Given the description of an element on the screen output the (x, y) to click on. 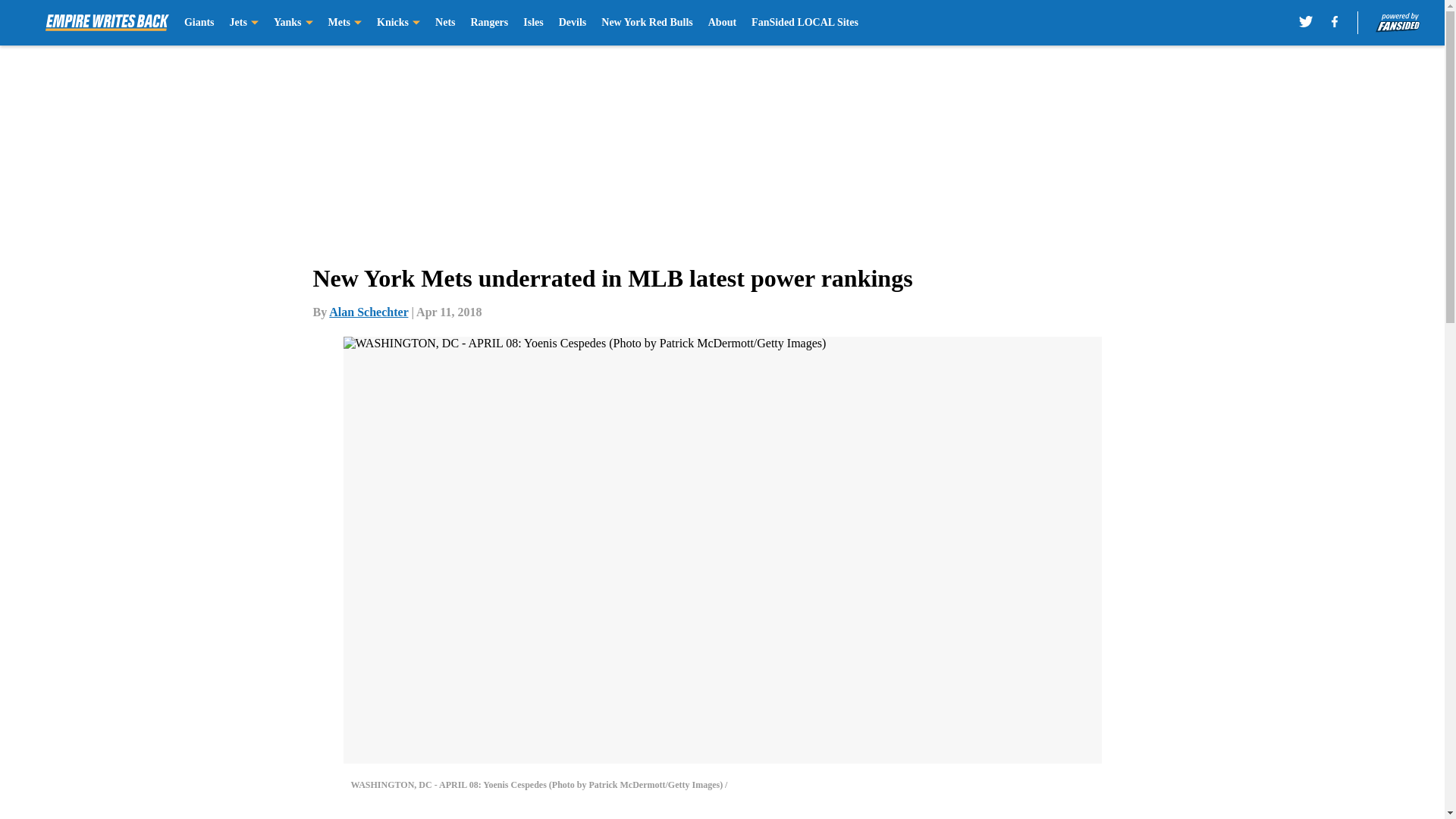
New York Red Bulls (647, 22)
About (721, 22)
Devils (572, 22)
Isles (532, 22)
FanSided LOCAL Sites (805, 22)
Rangers (489, 22)
Nets (444, 22)
Giants (199, 22)
Alan Schechter (368, 311)
